Given the description of an element on the screen output the (x, y) to click on. 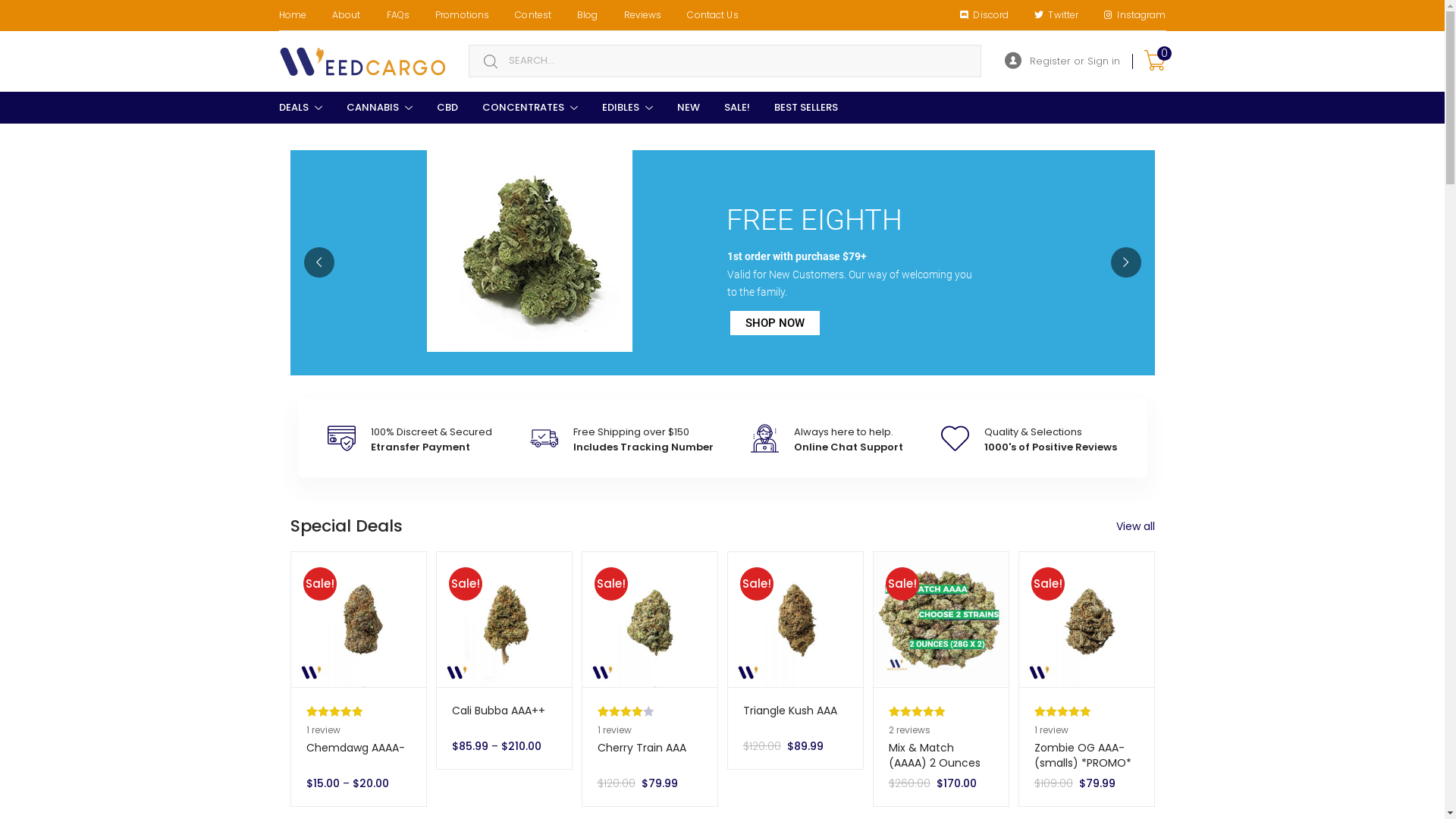
Sale! Element type: text (649, 619)
About Element type: text (346, 15)
DEALS Element type: text (300, 107)
CBD Element type: text (447, 107)
CONCENTRATES Element type: text (529, 107)
Contact Us Element type: text (712, 15)
Twitter Element type: text (1056, 15)
NEW Element type: text (687, 107)
Sale! Element type: text (358, 619)
EDIBLES Element type: text (627, 107)
SALE! Element type: text (736, 107)
Reviews Element type: text (642, 15)
Promotions Element type: text (462, 15)
Learn More Element type: text (773, 322)
Sale! Element type: text (795, 619)
Contest Element type: text (533, 15)
Blog Element type: text (587, 15)
CANNABIS Element type: text (378, 107)
Triangle Kush AAA




$120.00 $89.99 Element type: text (795, 727)
FAQs Element type: text (397, 15)
Search Element type: text (21, 12)
View all Element type: text (1135, 525)
BEST SELLERS Element type: text (805, 107)
Sale! Element type: text (1086, 619)
Sale! Element type: text (503, 619)
Sale! Element type: text (940, 619)
Discord Element type: text (984, 15)
Register or Sign in Element type: text (1061, 61)
Instagram Element type: text (1134, 15)
0 Element type: text (1153, 61)
Home Element type: text (291, 15)
